Given the description of an element on the screen output the (x, y) to click on. 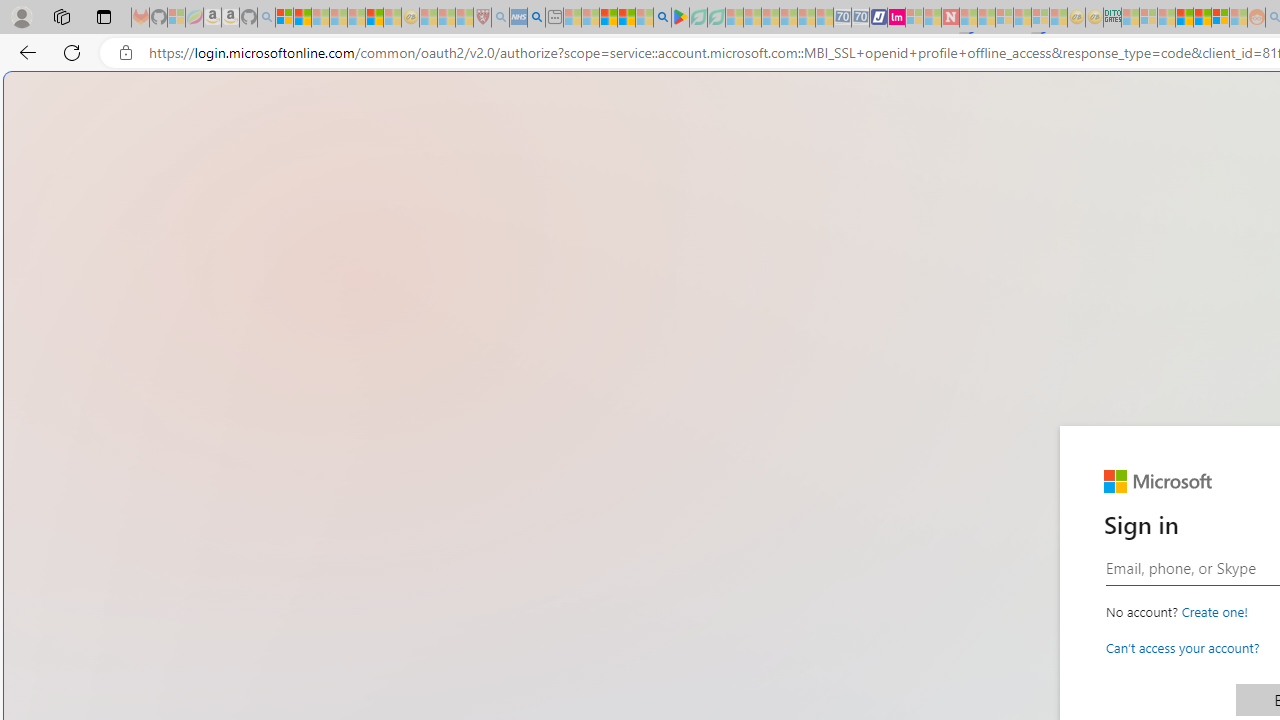
Pets - MSN (626, 17)
